Given the description of an element on the screen output the (x, y) to click on. 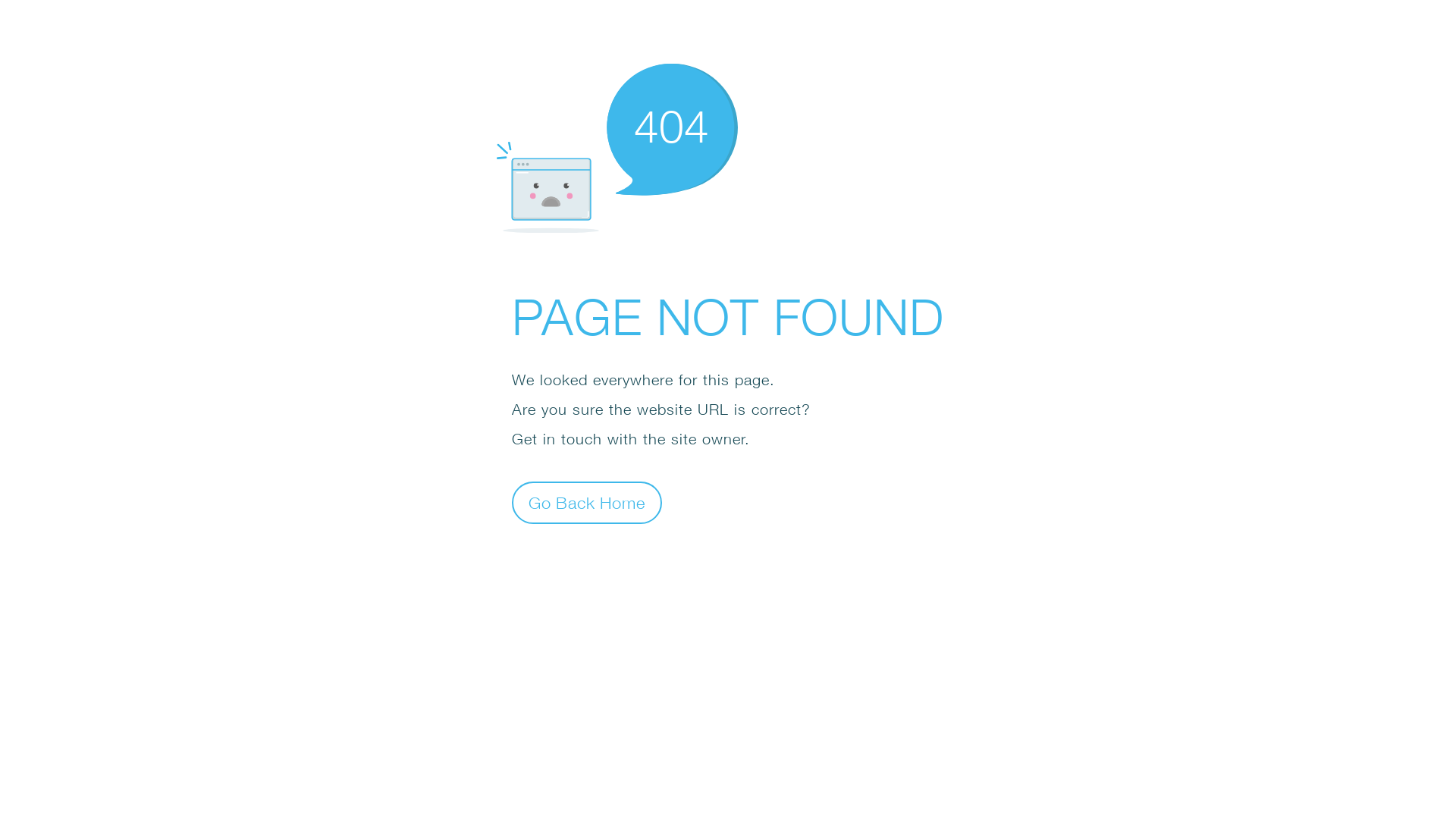
Go Back Home Element type: text (586, 502)
